Given the description of an element on the screen output the (x, y) to click on. 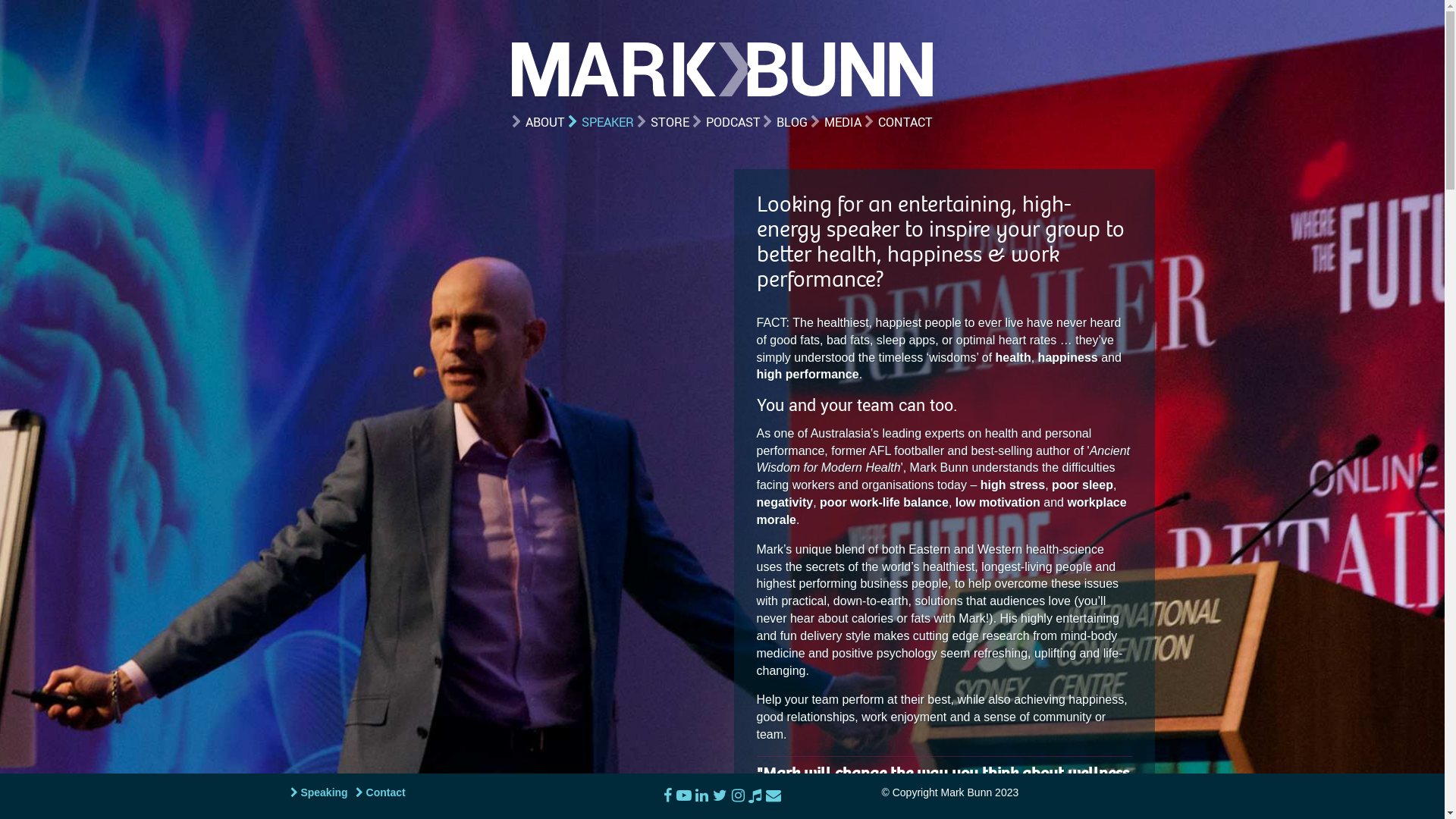
Contact Element type: text (380, 792)
Speaking Element type: text (318, 792)
MEDIA Element type: text (835, 122)
  Element type: text (771, 795)
CONTACT Element type: text (898, 122)
  Element type: text (753, 795)
BLOG Element type: text (784, 122)
SPEAKER Element type: text (600, 122)
PODCAST Element type: text (726, 122)
STORE Element type: text (663, 122)
ABOUT Element type: text (537, 122)
